Given the description of an element on the screen output the (x, y) to click on. 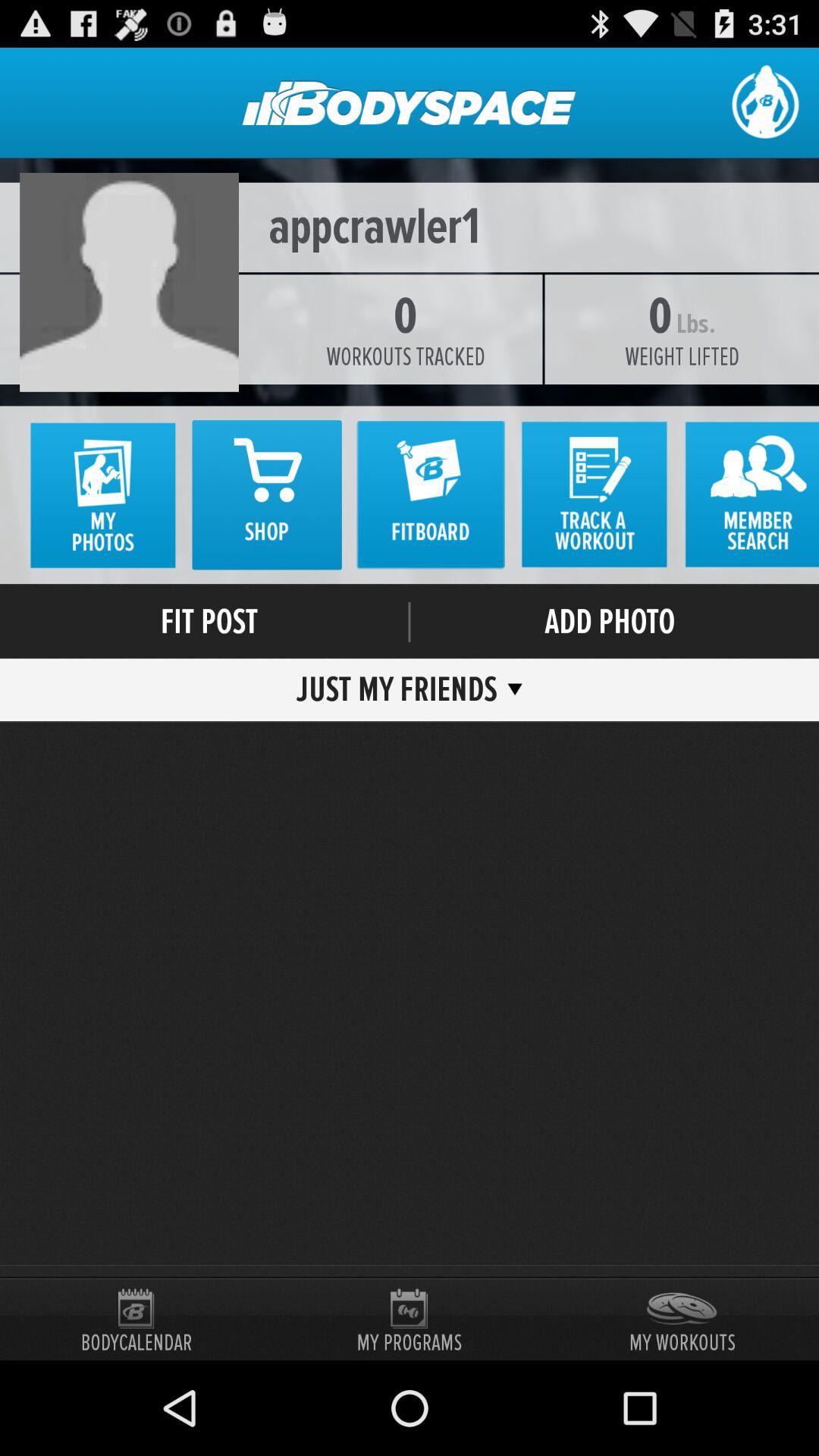
flip until the weight lifted (681, 356)
